Given the description of an element on the screen output the (x, y) to click on. 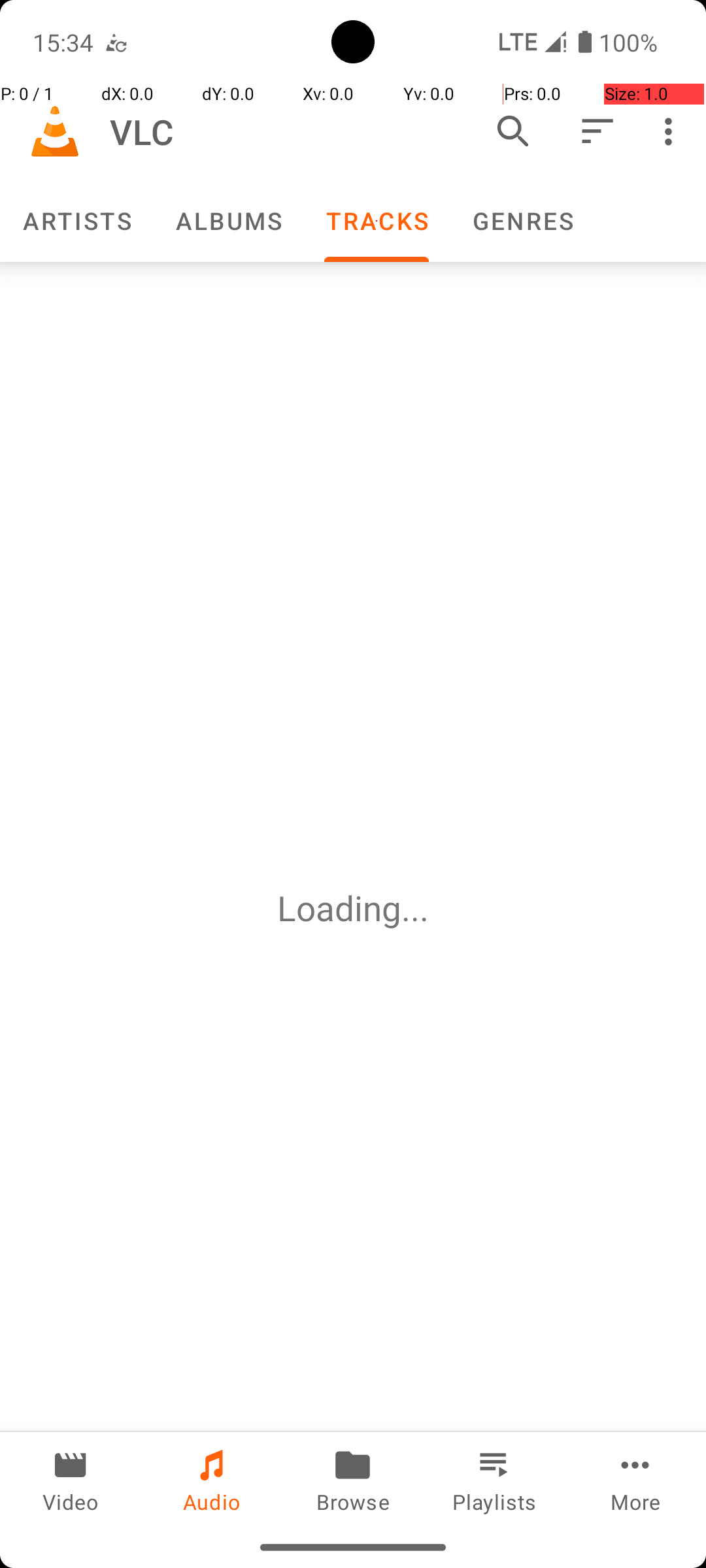
... Element type: android.widget.TextView (414, 907)
